Given the description of an element on the screen output the (x, y) to click on. 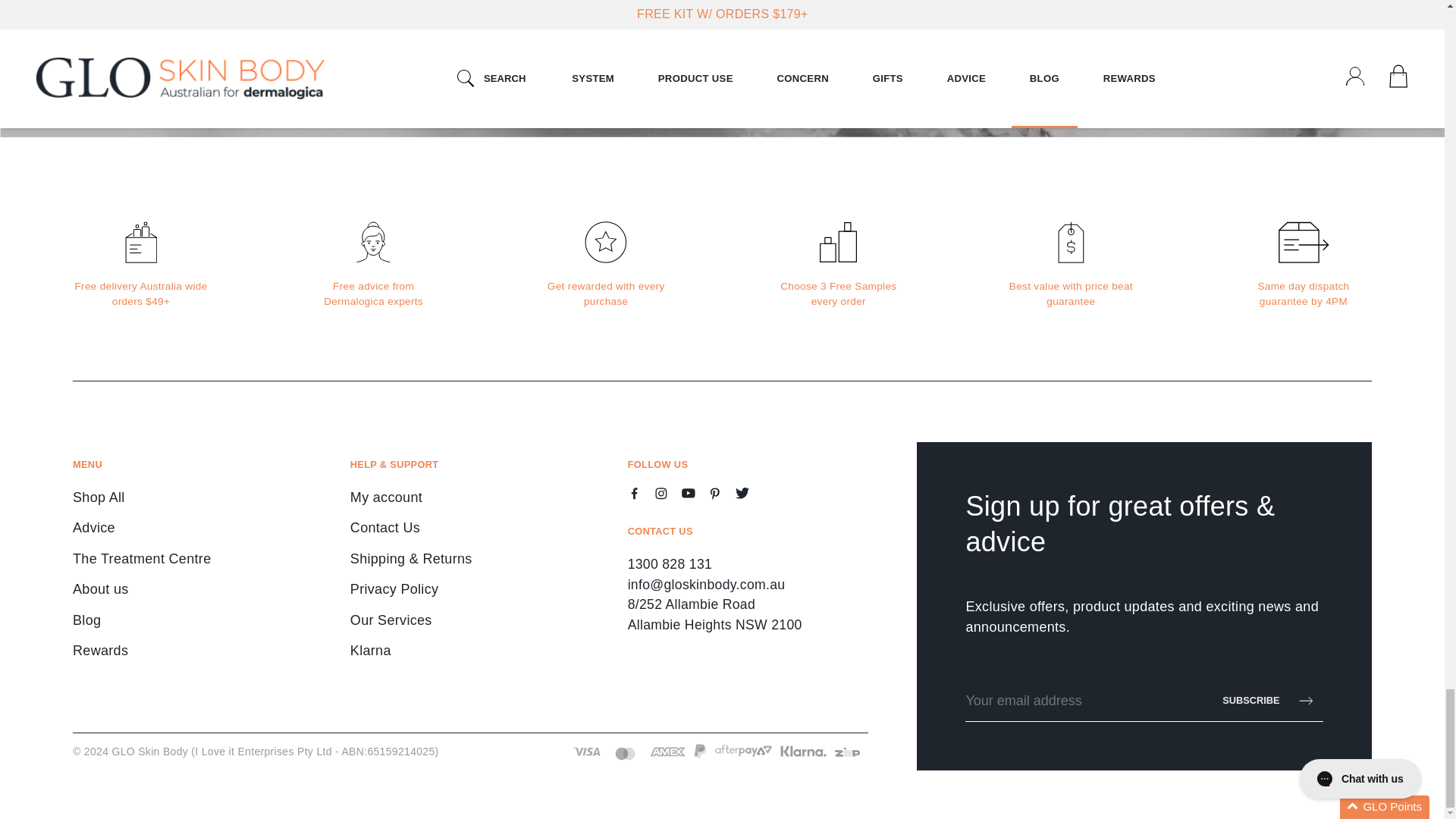
amex-svgrepo-com Created with Sketch. (667, 751)
mastercard Created with Sketch. (625, 753)
visa Created with Sketch. (586, 751)
